Given the description of an element on the screen output the (x, y) to click on. 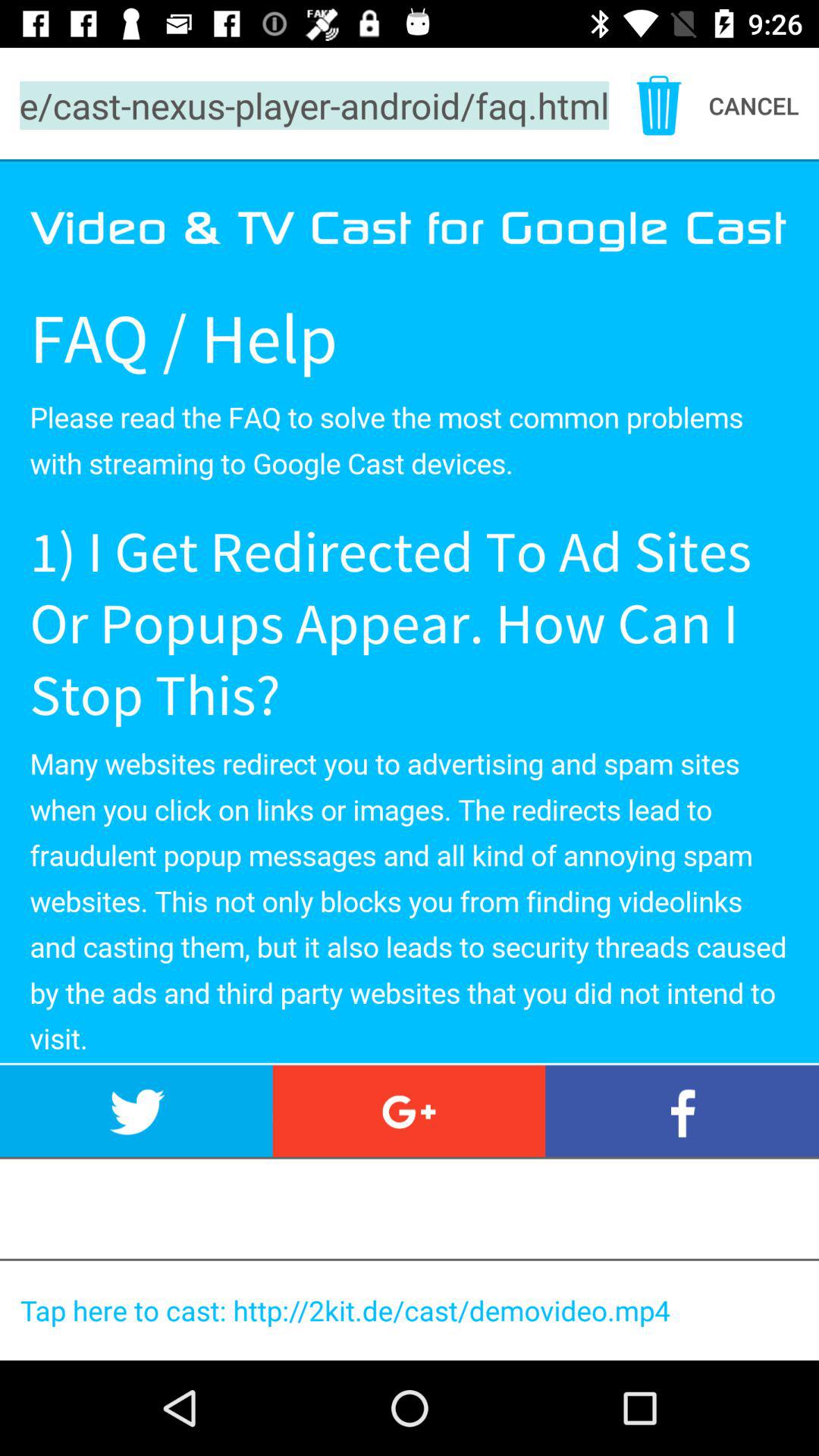
select the text top right corner after delete icon (764, 105)
click on the link which is at the bottom of the page (414, 1309)
